Given the description of an element on the screen output the (x, y) to click on. 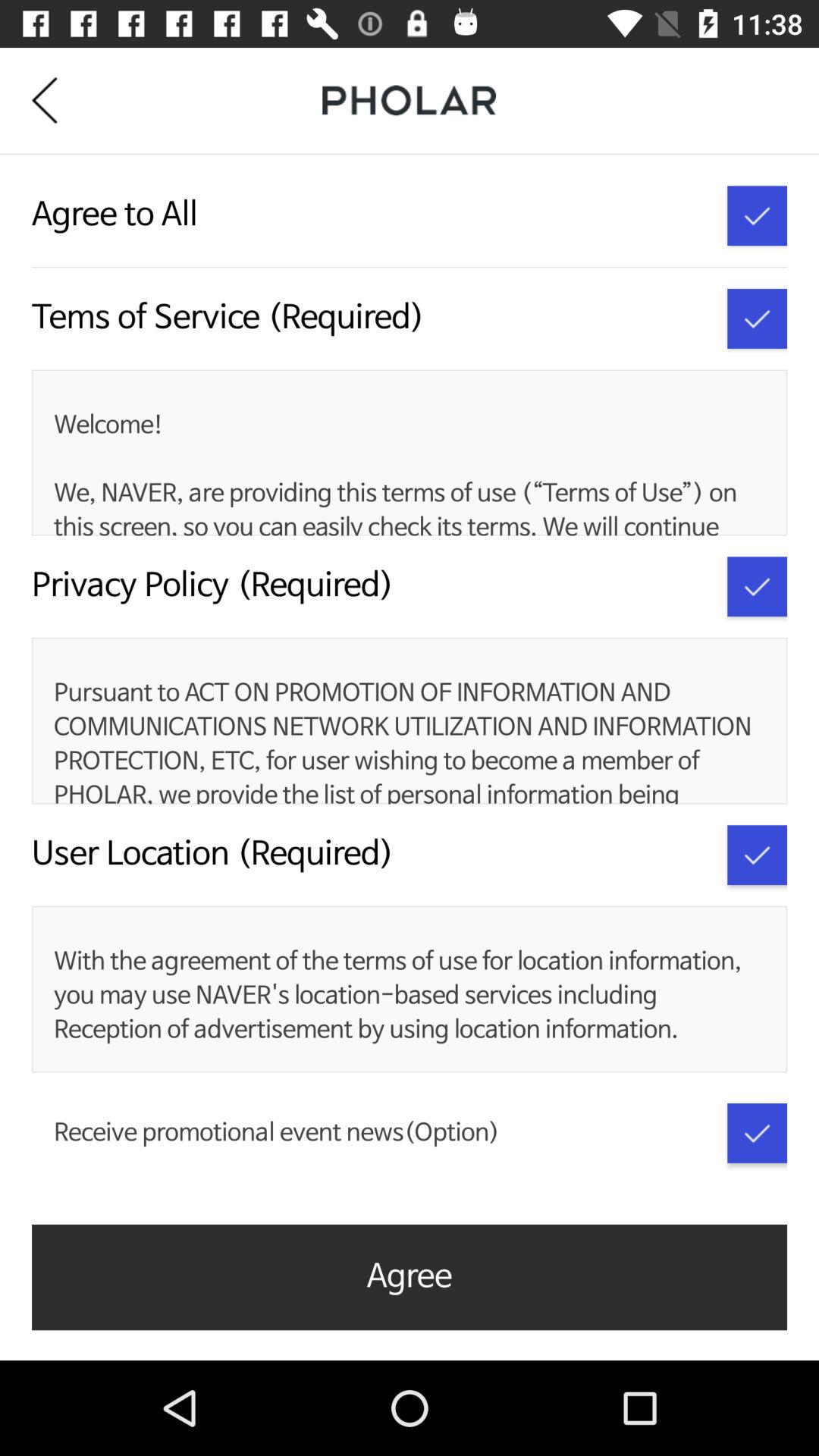
select agree to all (757, 215)
